Given the description of an element on the screen output the (x, y) to click on. 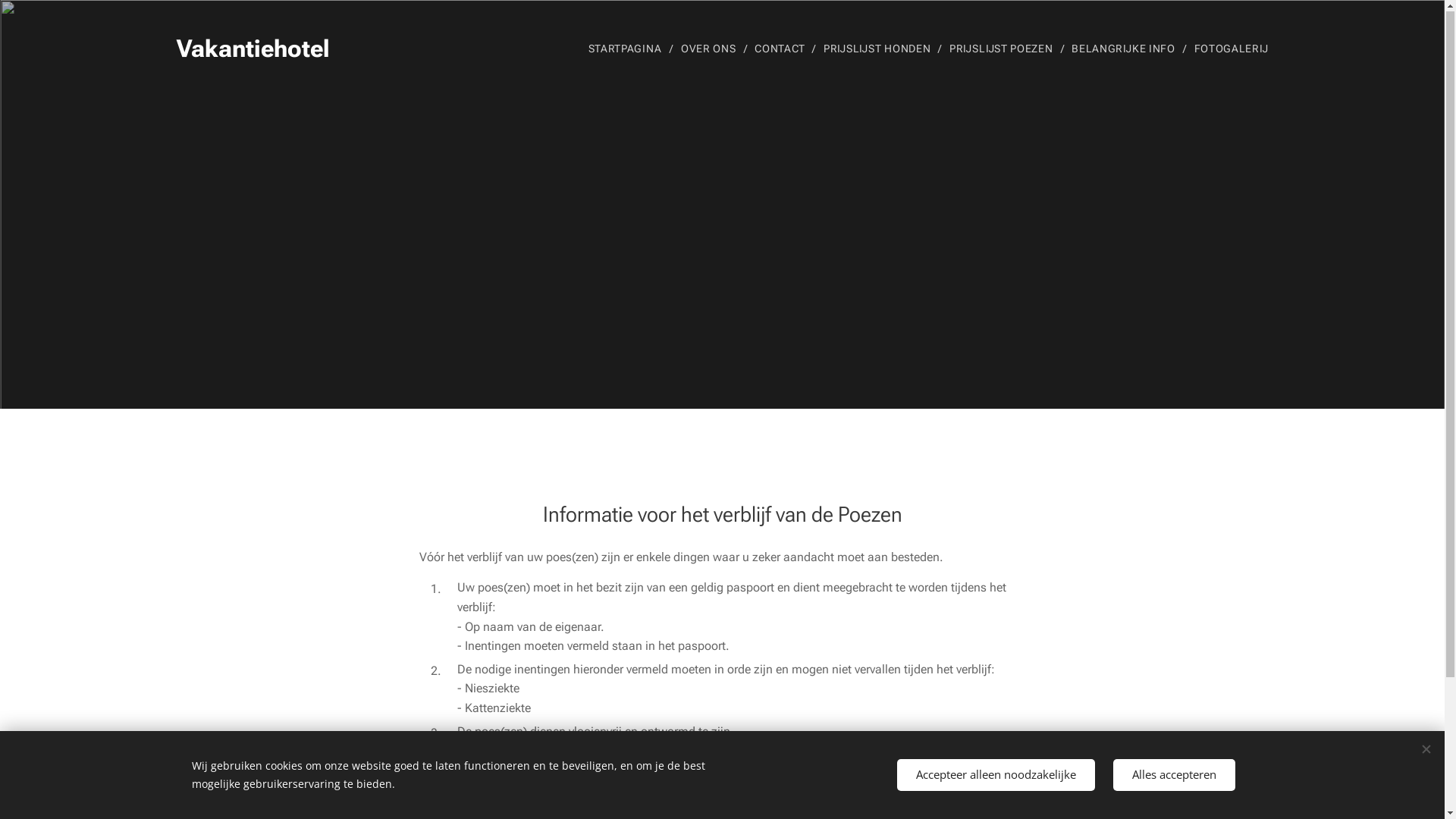
FOTOGALERIJ Element type: text (1226, 49)
PRIJSLIJST HONDEN Element type: text (878, 49)
STARTPAGINA Element type: text (628, 49)
OVER ONS Element type: text (709, 49)
Alles accepteren Element type: text (1174, 774)
BELANGRIJKE INFO Element type: text (1124, 49)
Accepteer alleen noodzakelijke Element type: text (995, 774)
PRIJSLIJST POEZEN Element type: text (1002, 49)
Vakantiehotel Element type: text (252, 49)
CONTACT Element type: text (780, 49)
